Given the description of an element on the screen output the (x, y) to click on. 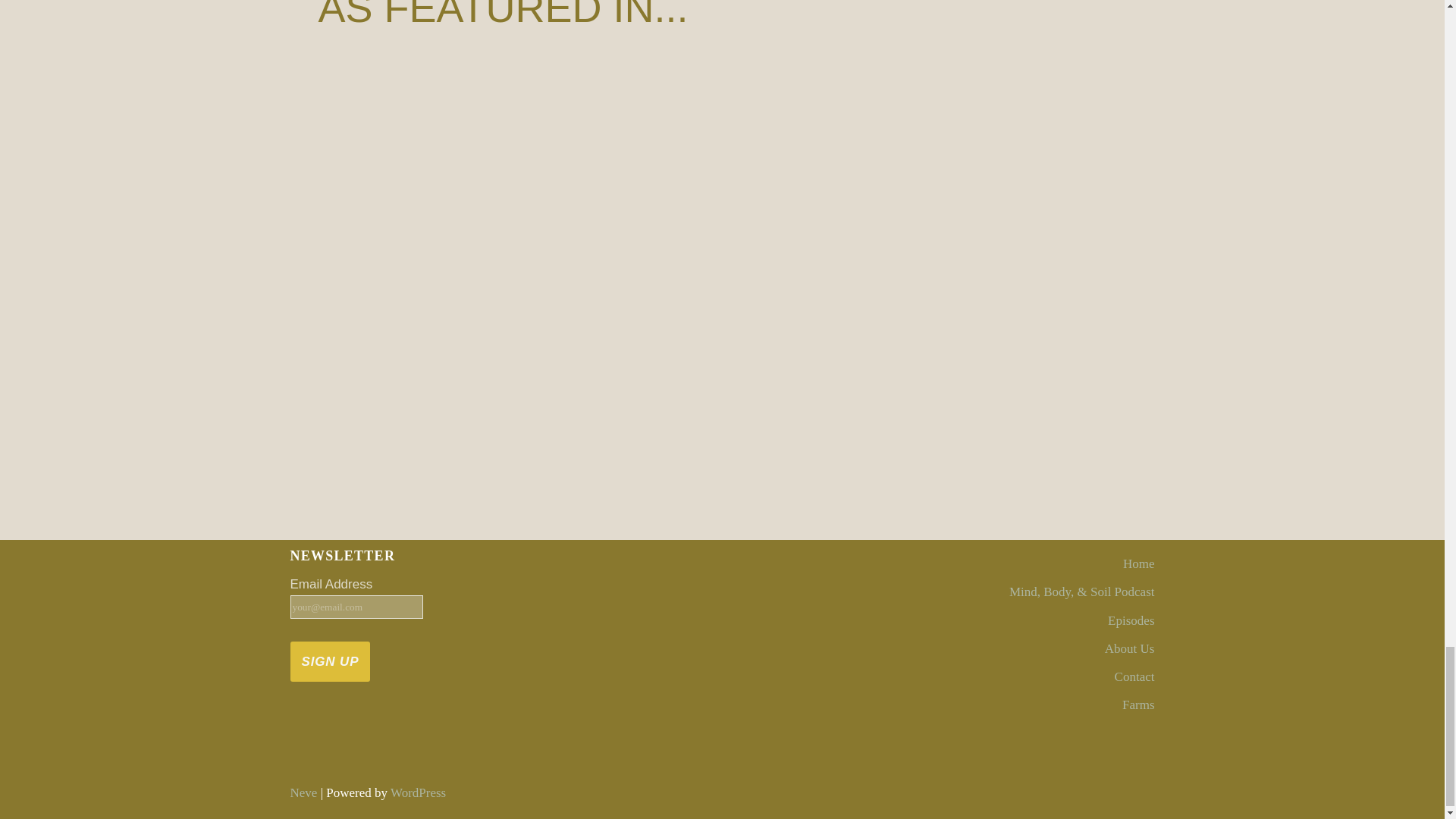
Neve (303, 792)
About Us (1129, 648)
Home (1138, 563)
Farms (1138, 704)
WordPress (417, 792)
Episodes (1131, 620)
Sign up (329, 661)
Contact (1134, 676)
Sign up (329, 661)
